Given the description of an element on the screen output the (x, y) to click on. 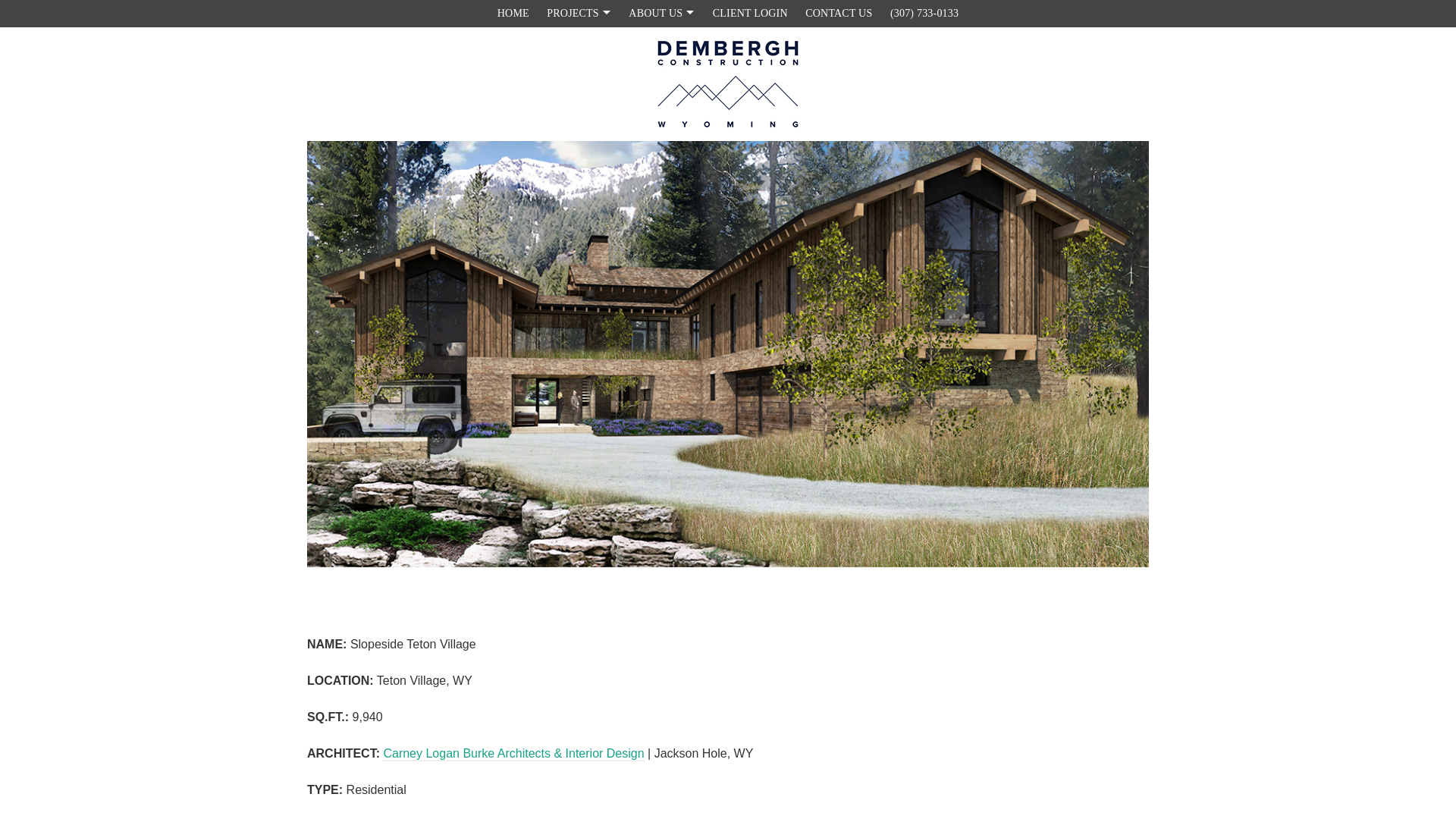
PROJECTS (578, 12)
CONTACT US (838, 12)
CLIENT LOGIN (749, 12)
ABOUT US (661, 12)
HOME (513, 12)
